Given the description of an element on the screen output the (x, y) to click on. 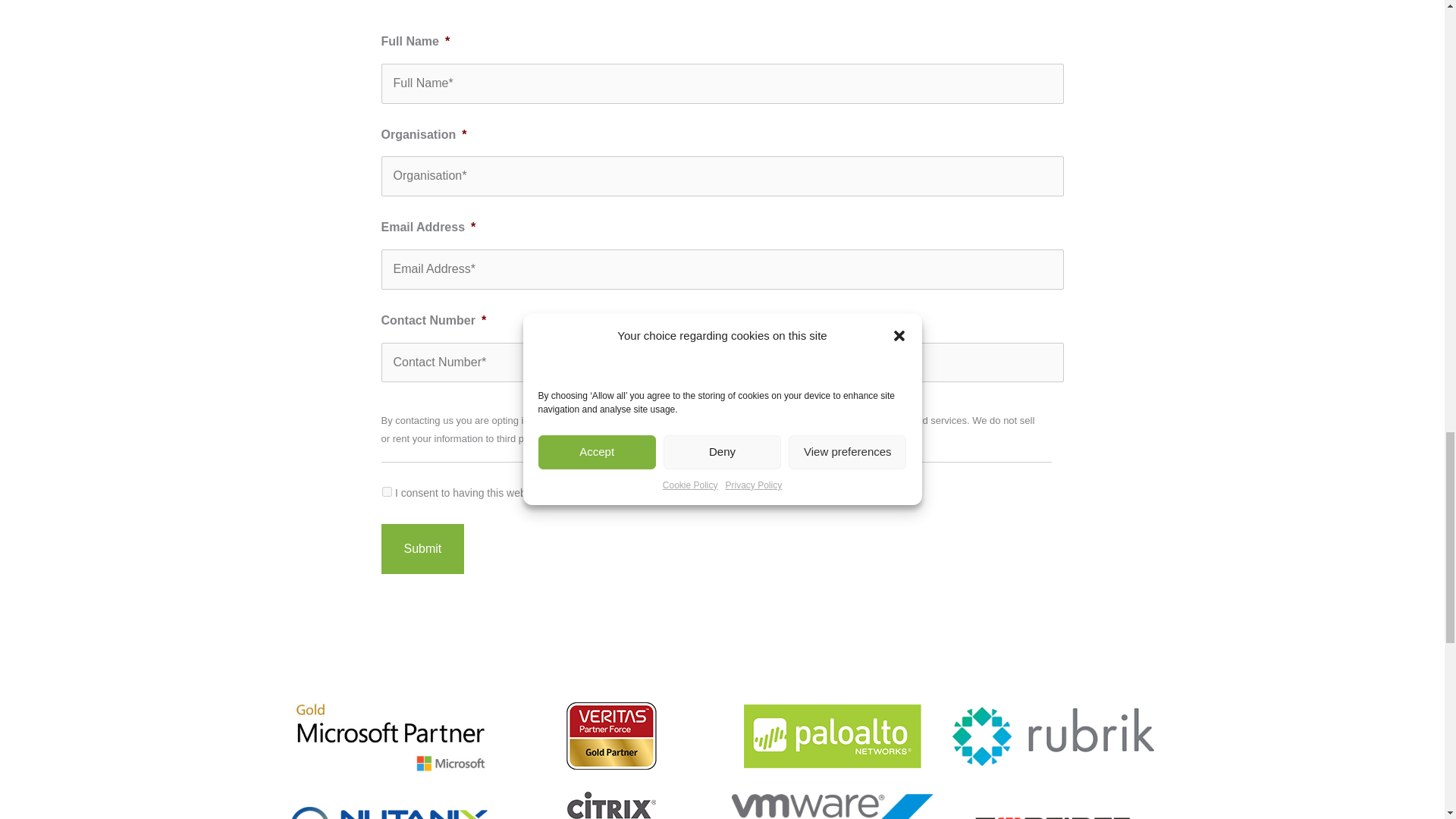
Submit (422, 549)
Click here (574, 438)
Submit (422, 549)
